Given the description of an element on the screen output the (x, y) to click on. 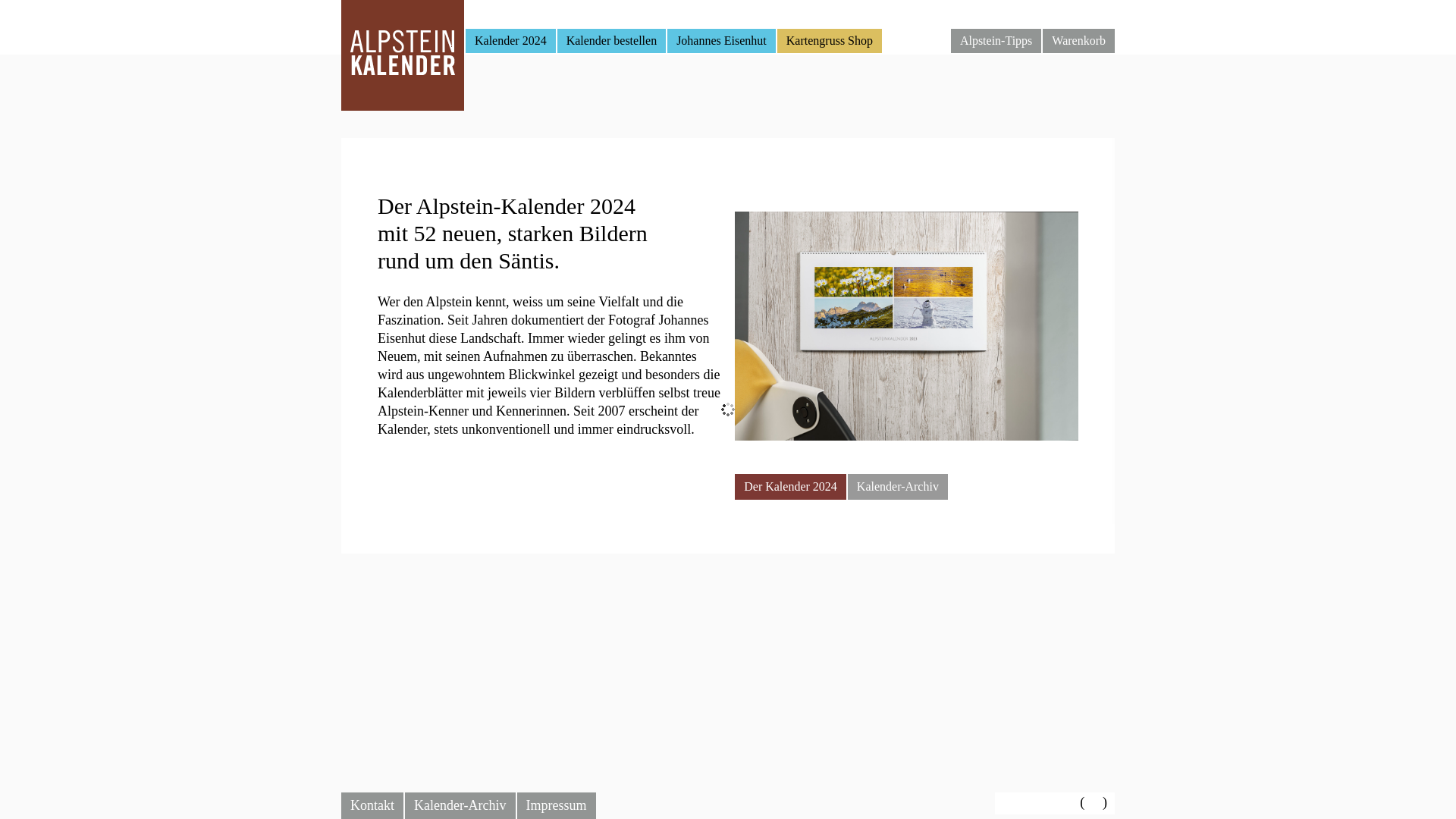
Alpstein-Tipps Element type: text (995, 40)
Johannes Eisenhut Element type: text (721, 40)
Kalender-Archiv Element type: text (897, 486)
Like Button Notice Element type: text (1039, 803)
Kalender 2024 Element type: text (510, 40)
ALPSTEINKALENDER Element type: text (402, 55)
Kalender bestellen Element type: text (611, 40)
Kartengruss Shop Element type: text (829, 40)
Der Kalender 2024 Element type: text (790, 486)
view Element type: text (1093, 803)
Warenkorb Element type: text (1078, 40)
